Given the description of an element on the screen output the (x, y) to click on. 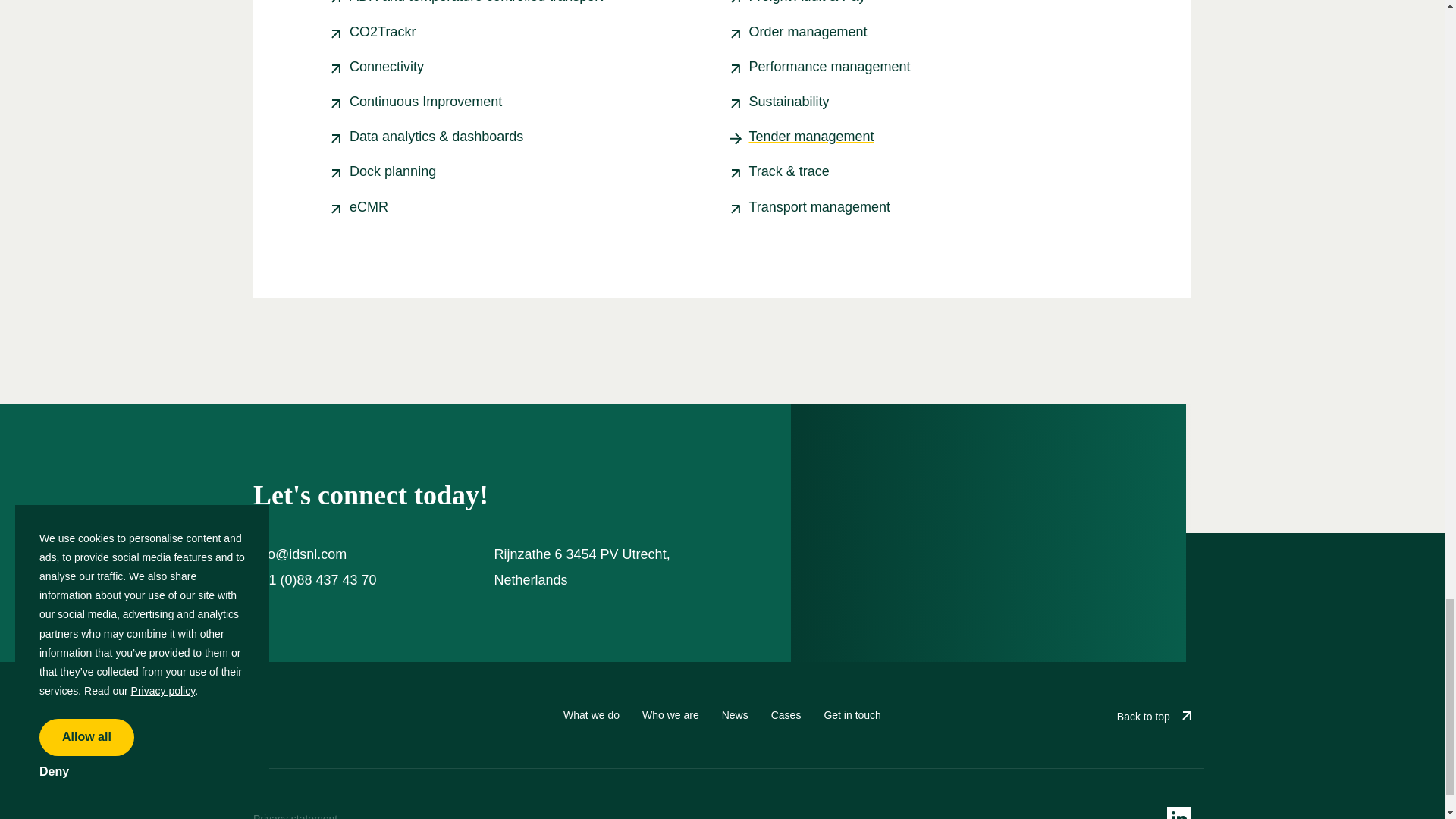
Continuous Improvement (425, 101)
News (735, 715)
Sustainability (789, 101)
Order management (808, 31)
Dock planning (392, 171)
Tender management (812, 136)
Privacy statement (295, 816)
What we do (591, 715)
Connectivity (386, 66)
ADR and temperature controlled transport (475, 2)
Who we are (670, 715)
Transport management (819, 206)
eCMR (368, 206)
Cases (786, 715)
Back to top (1153, 714)
